Given the description of an element on the screen output the (x, y) to click on. 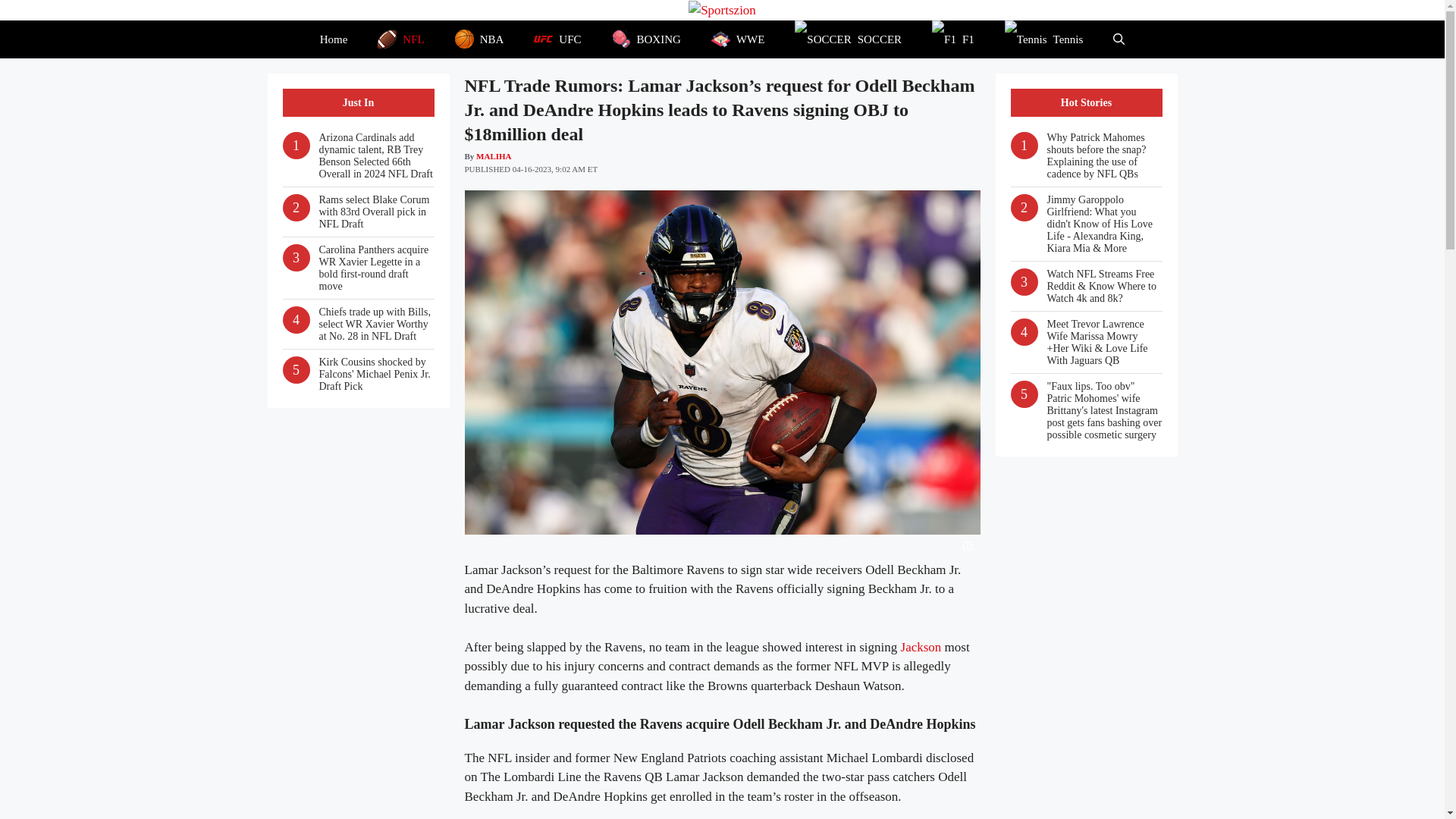
WWE (736, 39)
UFC (556, 39)
MALIHA (493, 155)
BOXING (645, 39)
Home (333, 39)
Jackson (921, 646)
View all posts by Maliha (493, 155)
F1 (953, 39)
